Given the description of an element on the screen output the (x, y) to click on. 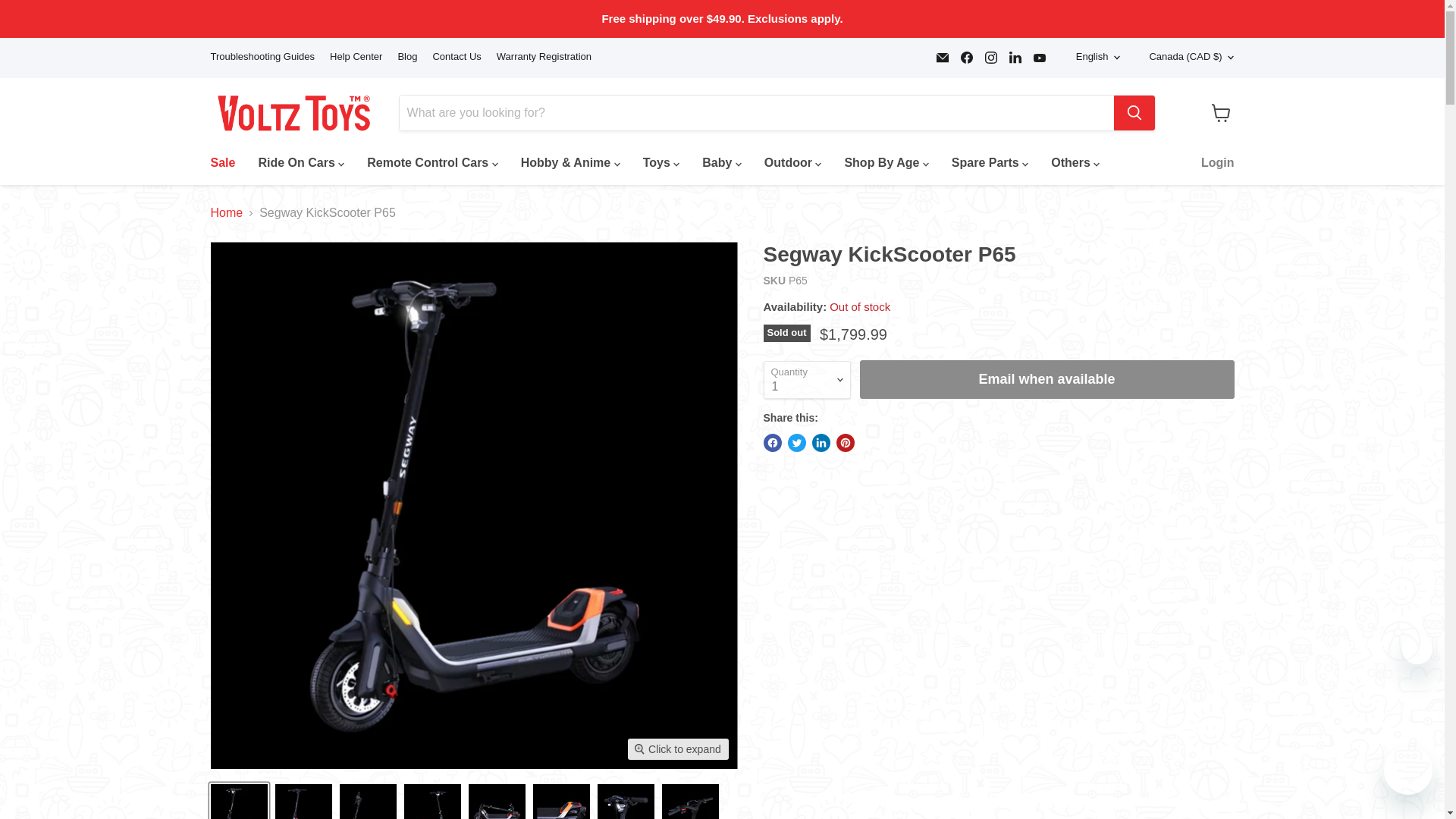
Find us on YouTube (1039, 56)
Facebook (966, 56)
Find us on Facebook (966, 56)
Blog (406, 57)
Warranty Registration (543, 57)
Help Center (355, 57)
English (1094, 56)
Email (942, 56)
Find us on LinkedIn (1015, 56)
YouTube (1039, 56)
Email Voltz Toys (942, 56)
Troubleshooting Guides (263, 57)
Contact Us (456, 57)
LinkedIn (1015, 56)
Instagram (990, 56)
